Given the description of an element on the screen output the (x, y) to click on. 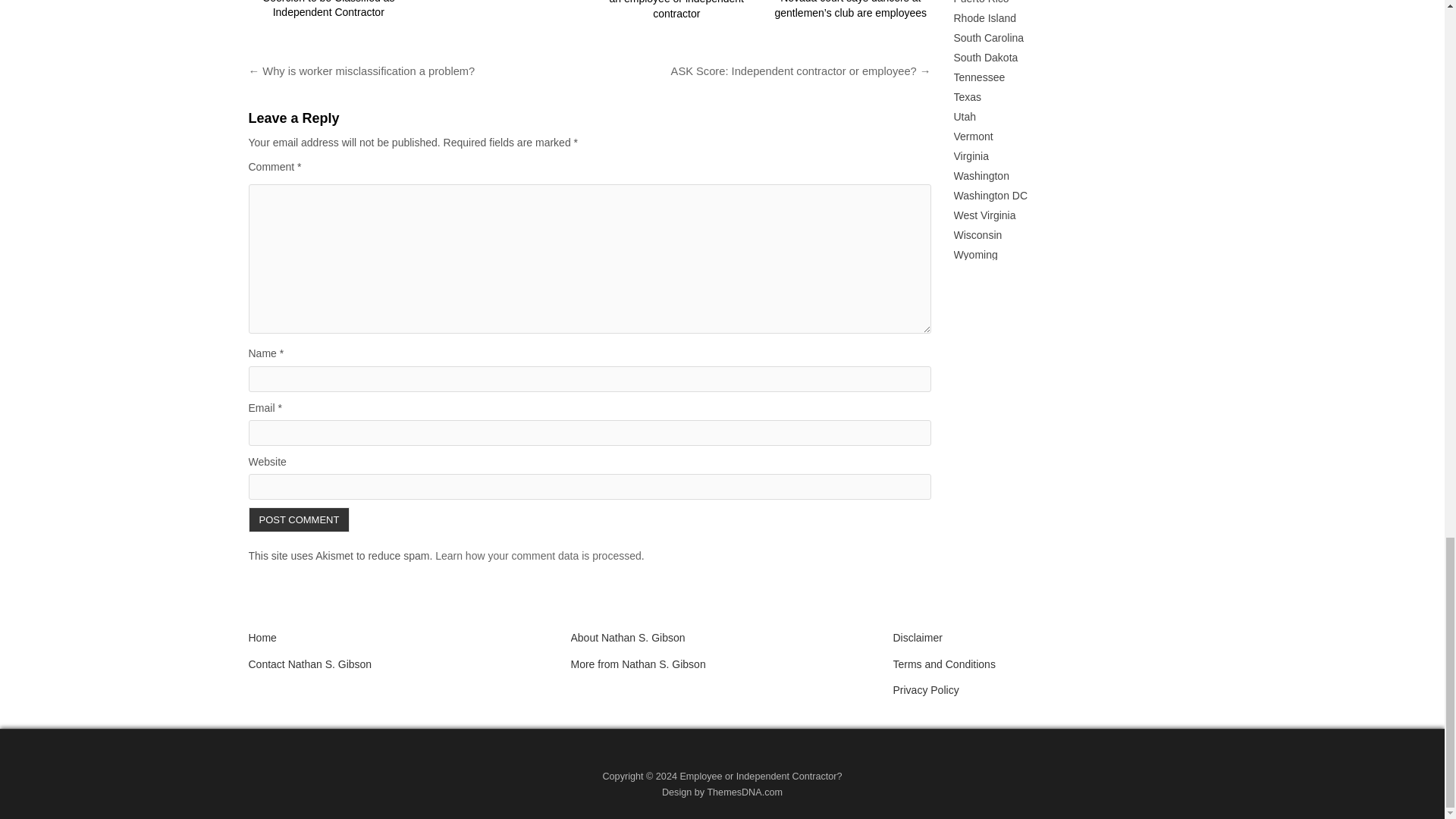
Learn how your comment data is processed (538, 555)
Post Comment (299, 519)
Post Comment (299, 519)
